Given the description of an element on the screen output the (x, y) to click on. 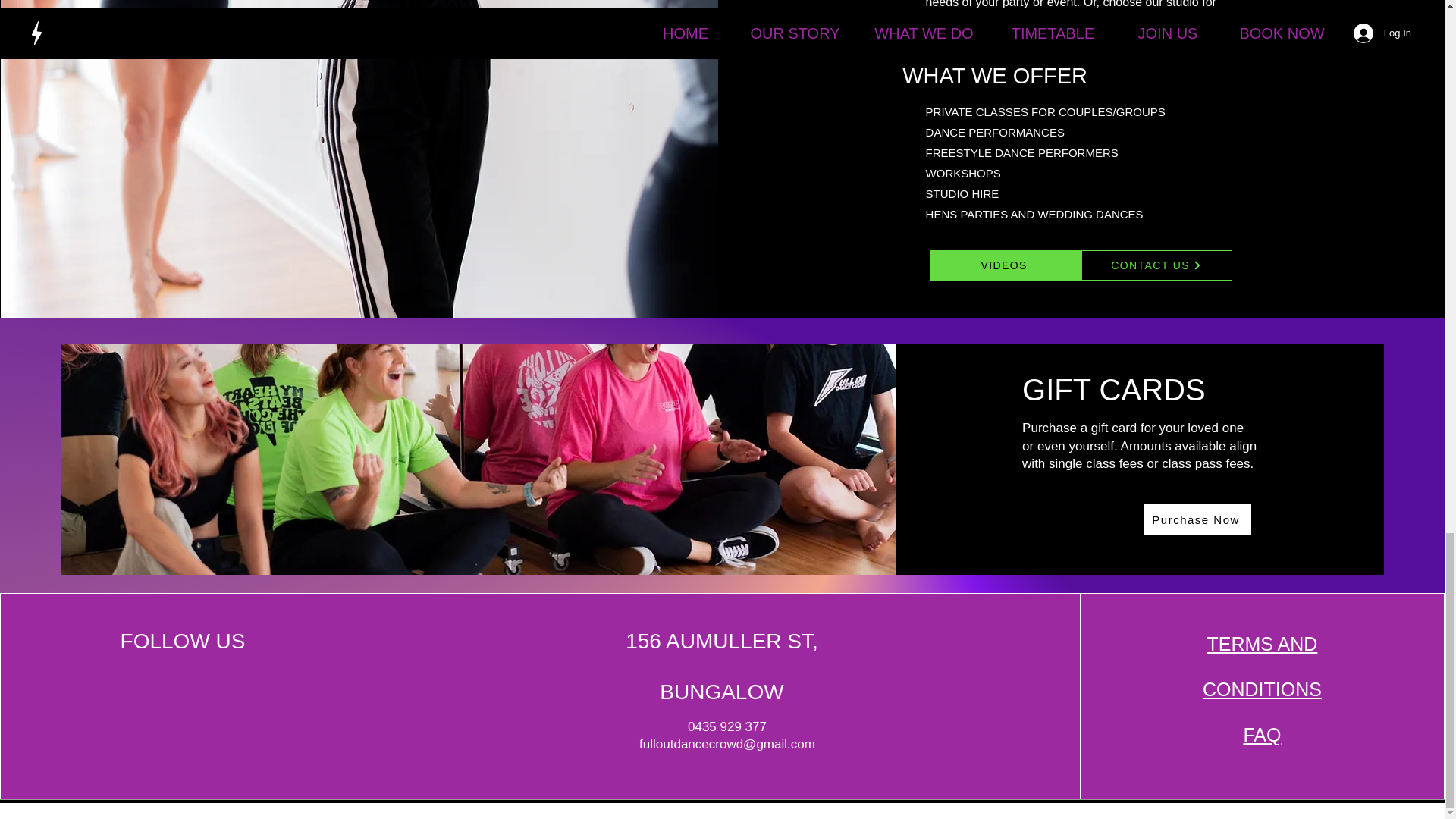
CONTACT US (1156, 265)
VIDEOS (1005, 265)
STUDIO HIRE (962, 193)
FAQ (1262, 734)
Purchase Now (1196, 519)
TERMS AND CONDITIONS (1262, 666)
